Given the description of an element on the screen output the (x, y) to click on. 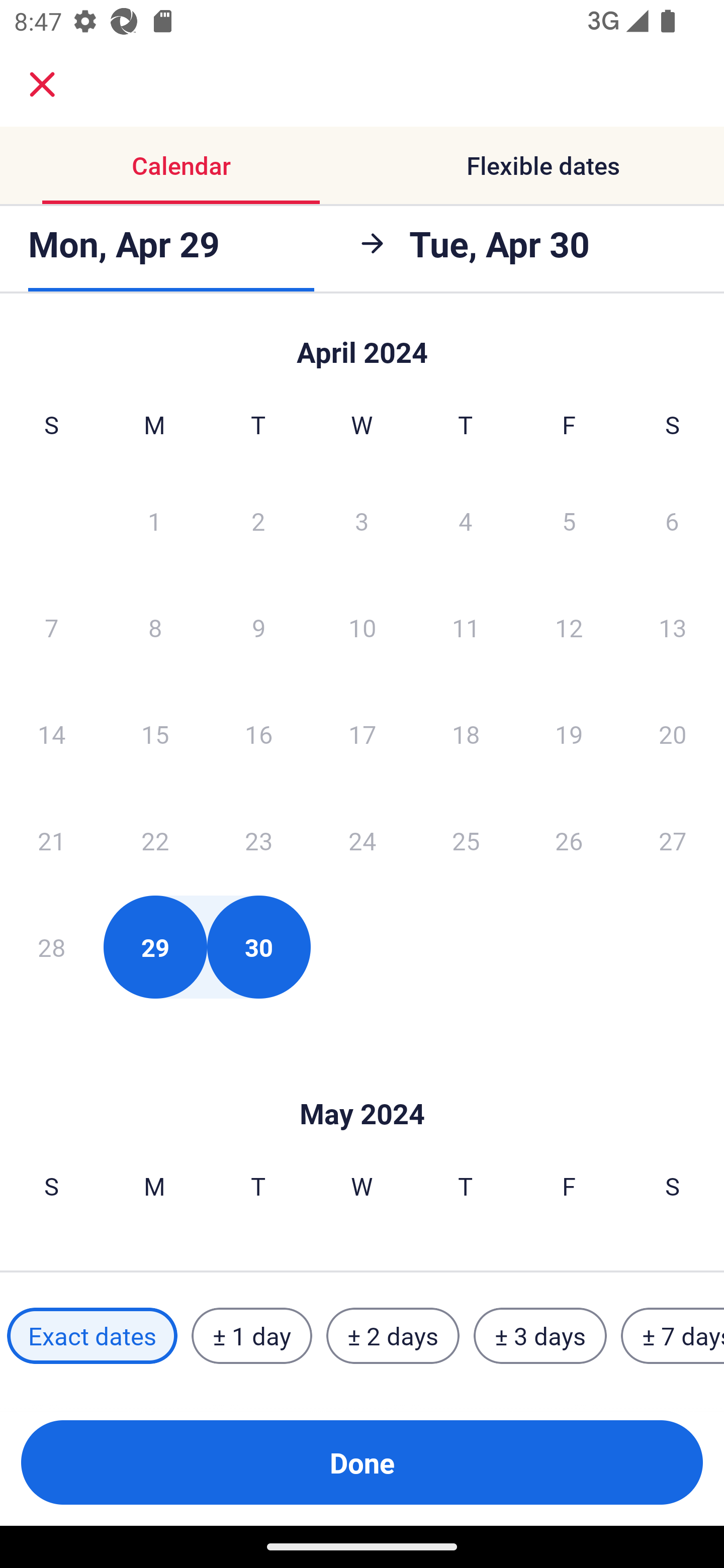
close. (42, 84)
Flexible dates (542, 164)
Skip to Done (362, 343)
1 Monday, April 1, 2024 (154, 520)
2 Tuesday, April 2, 2024 (257, 520)
3 Wednesday, April 3, 2024 (361, 520)
4 Thursday, April 4, 2024 (465, 520)
5 Friday, April 5, 2024 (568, 520)
6 Saturday, April 6, 2024 (672, 520)
7 Sunday, April 7, 2024 (51, 626)
8 Monday, April 8, 2024 (155, 626)
9 Tuesday, April 9, 2024 (258, 626)
10 Wednesday, April 10, 2024 (362, 626)
11 Thursday, April 11, 2024 (465, 626)
12 Friday, April 12, 2024 (569, 626)
13 Saturday, April 13, 2024 (672, 626)
14 Sunday, April 14, 2024 (51, 733)
15 Monday, April 15, 2024 (155, 733)
16 Tuesday, April 16, 2024 (258, 733)
17 Wednesday, April 17, 2024 (362, 733)
18 Thursday, April 18, 2024 (465, 733)
19 Friday, April 19, 2024 (569, 733)
20 Saturday, April 20, 2024 (672, 733)
21 Sunday, April 21, 2024 (51, 840)
22 Monday, April 22, 2024 (155, 840)
23 Tuesday, April 23, 2024 (258, 840)
24 Wednesday, April 24, 2024 (362, 840)
25 Thursday, April 25, 2024 (465, 840)
26 Friday, April 26, 2024 (569, 840)
27 Saturday, April 27, 2024 (672, 840)
28 Sunday, April 28, 2024 (51, 946)
Skip to Done (362, 1083)
Exact dates (92, 1335)
± 1 day (251, 1335)
± 2 days (392, 1335)
± 3 days (539, 1335)
± 7 days (672, 1335)
Done (361, 1462)
